Given the description of an element on the screen output the (x, y) to click on. 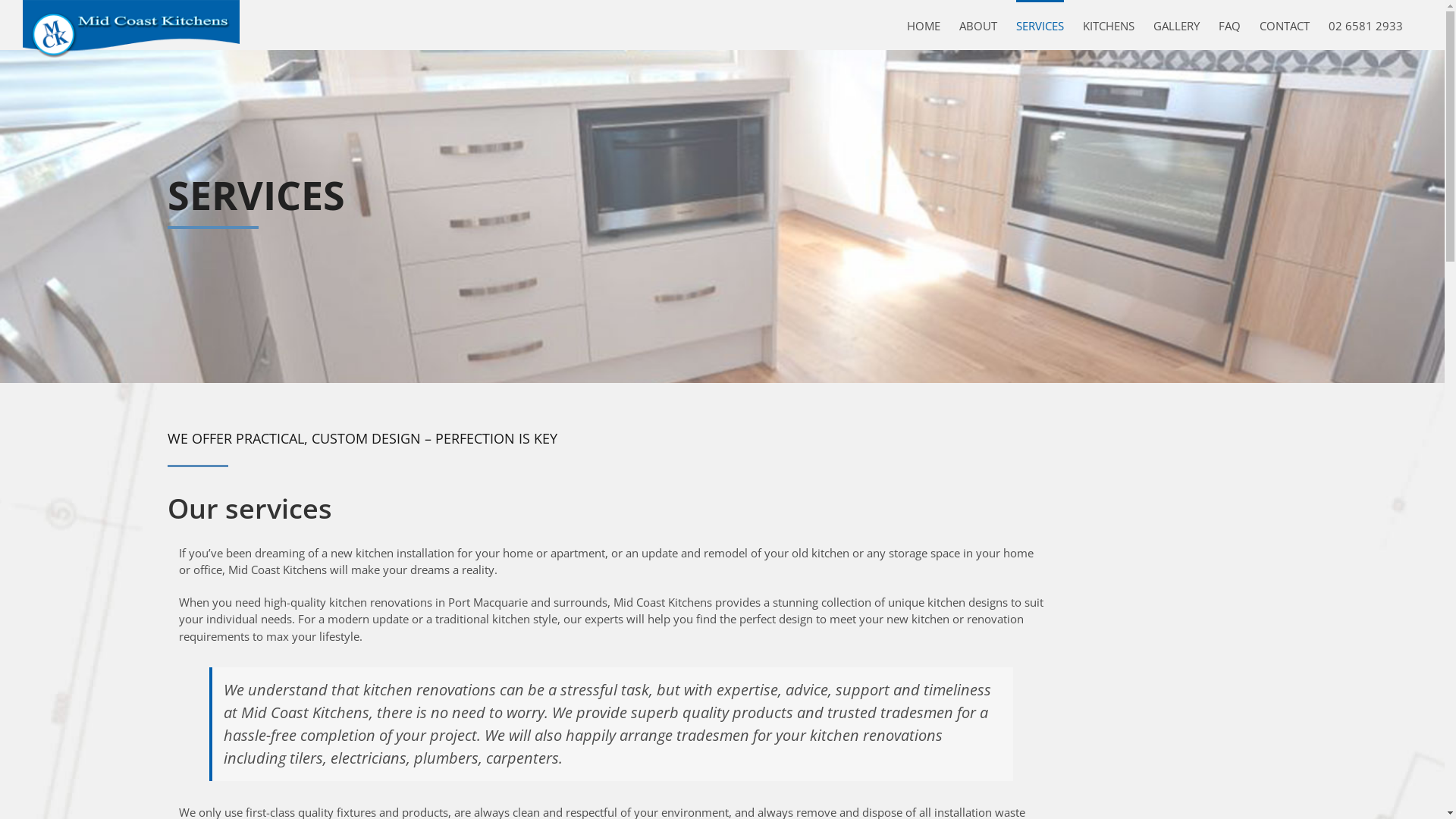
KITCHENS Element type: text (1108, 25)
02 6581 2933 Element type: text (1365, 25)
FAQ Element type: text (1229, 25)
SERVICES Element type: text (1039, 25)
GALLERY Element type: text (1176, 25)
HOME Element type: text (923, 25)
ABOUT Element type: text (978, 25)
CONTACT Element type: text (1284, 25)
